Given the description of an element on the screen output the (x, y) to click on. 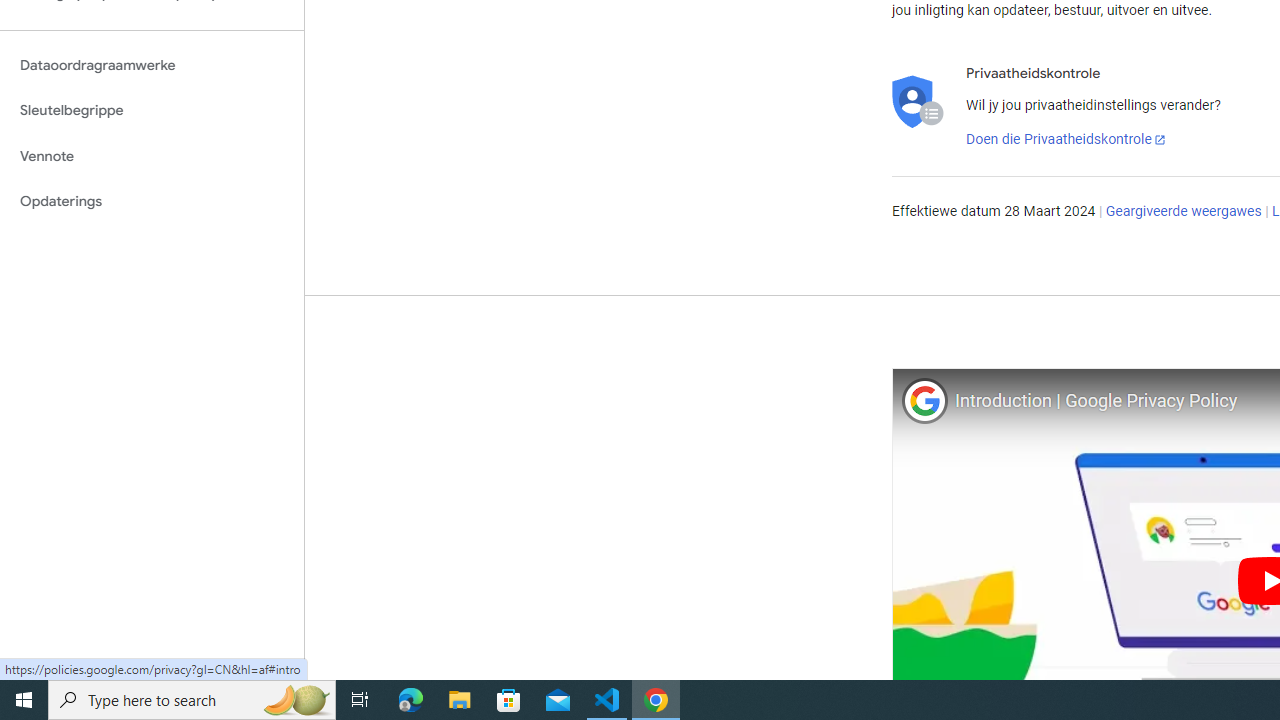
Sleutelbegrippe (152, 110)
Fotobeeld van Google (924, 400)
Dataoordragraamwerke (152, 65)
Geargiveerde weergawes (1183, 212)
Vennote (152, 156)
Opdaterings (152, 201)
Doen die Privaatheidskontrole (1066, 140)
